Given the description of an element on the screen output the (x, y) to click on. 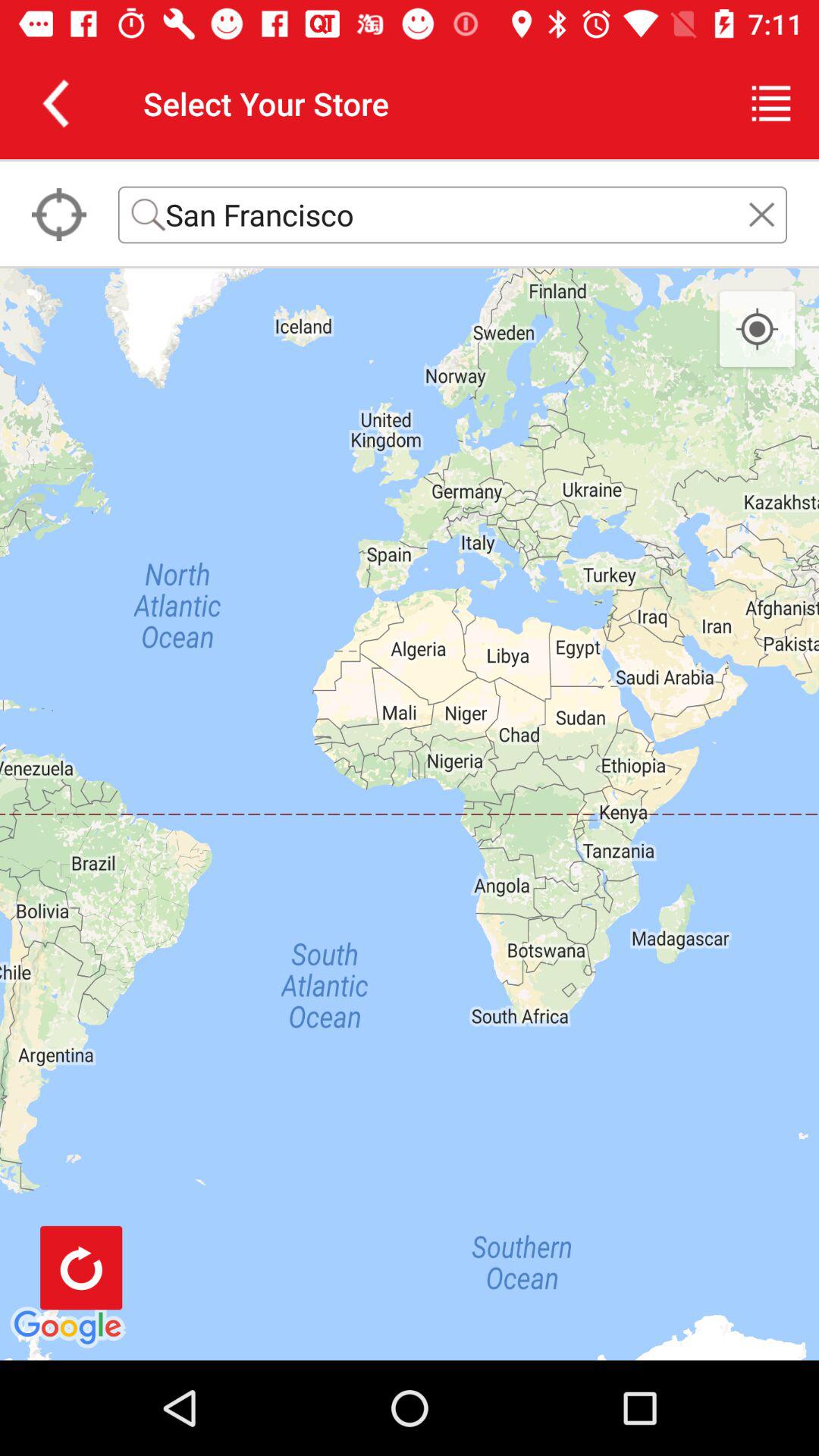
turn on icon to the left of select your store icon (55, 103)
